Given the description of an element on the screen output the (x, y) to click on. 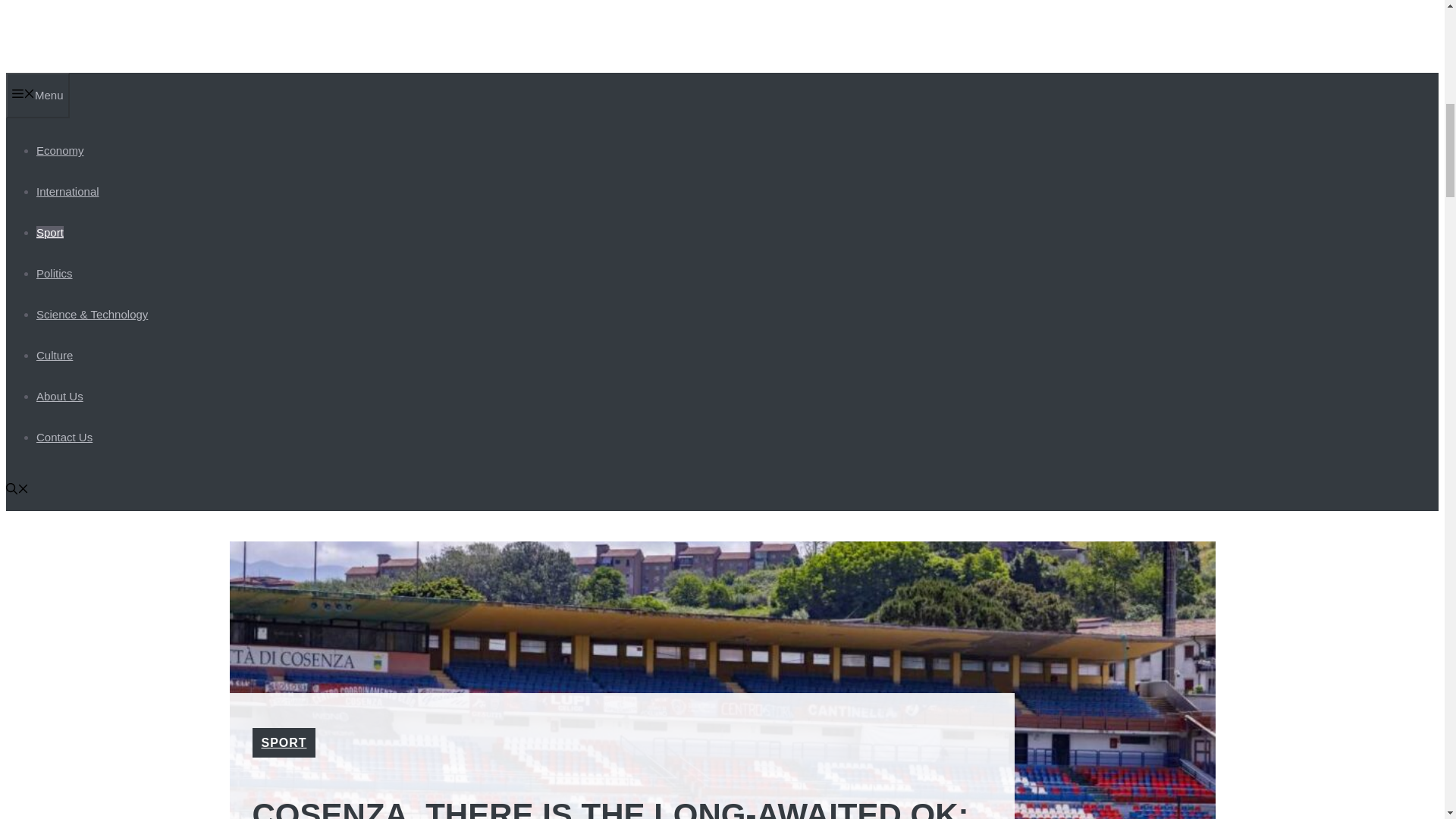
Menu (37, 94)
Economy (60, 150)
Sport (50, 232)
Scroll back to top (1406, 720)
About Us (59, 395)
Politics (54, 273)
International (67, 191)
Contact Us (64, 436)
Culture (54, 354)
SPORT (282, 742)
